Given the description of an element on the screen output the (x, y) to click on. 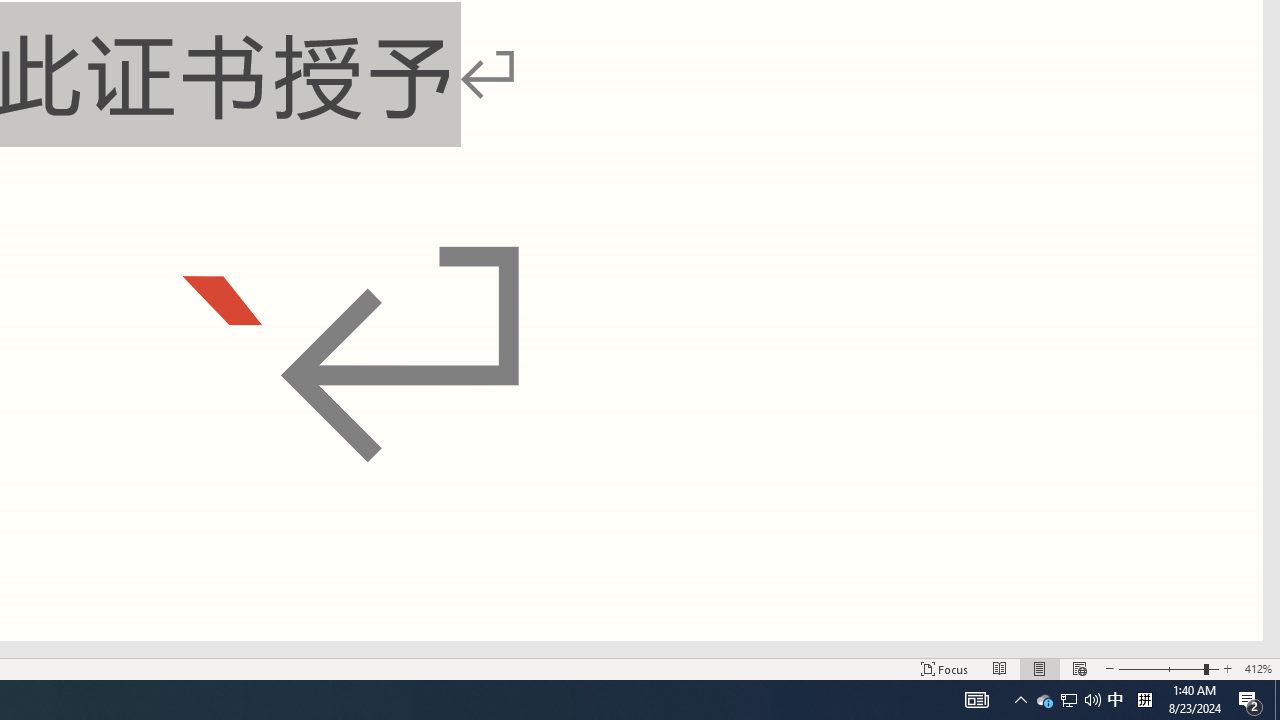
Zoom 412% (1258, 668)
Print Layout (1039, 668)
Zoom In (1227, 668)
Read Mode (1000, 668)
Focus  (944, 668)
Web Layout (1079, 668)
Zoom (1168, 668)
Zoom Out (1161, 668)
